Given the description of an element on the screen output the (x, y) to click on. 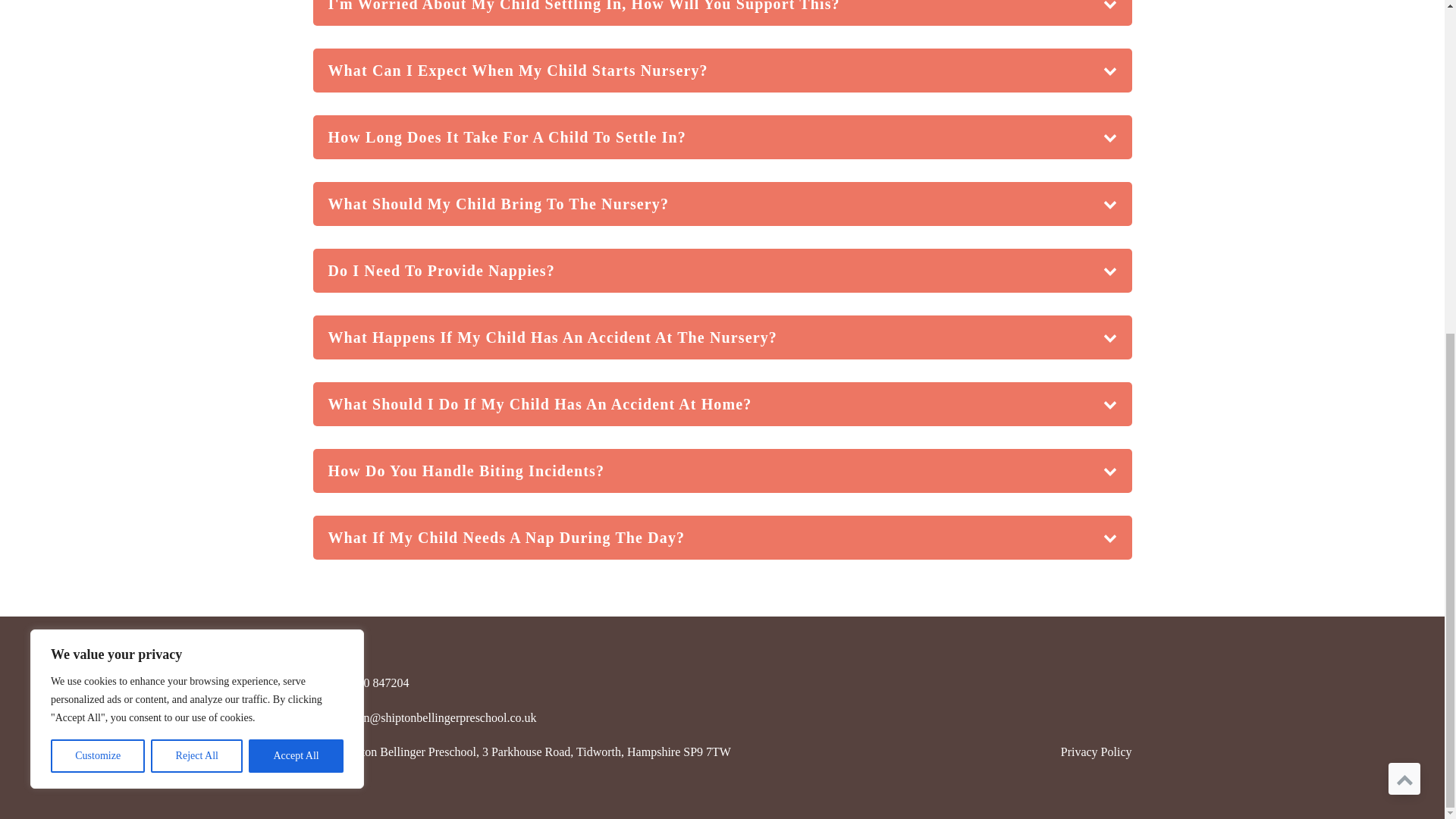
Accept All (295, 200)
Reject All (197, 200)
Customize (97, 200)
